Given the description of an element on the screen output the (x, y) to click on. 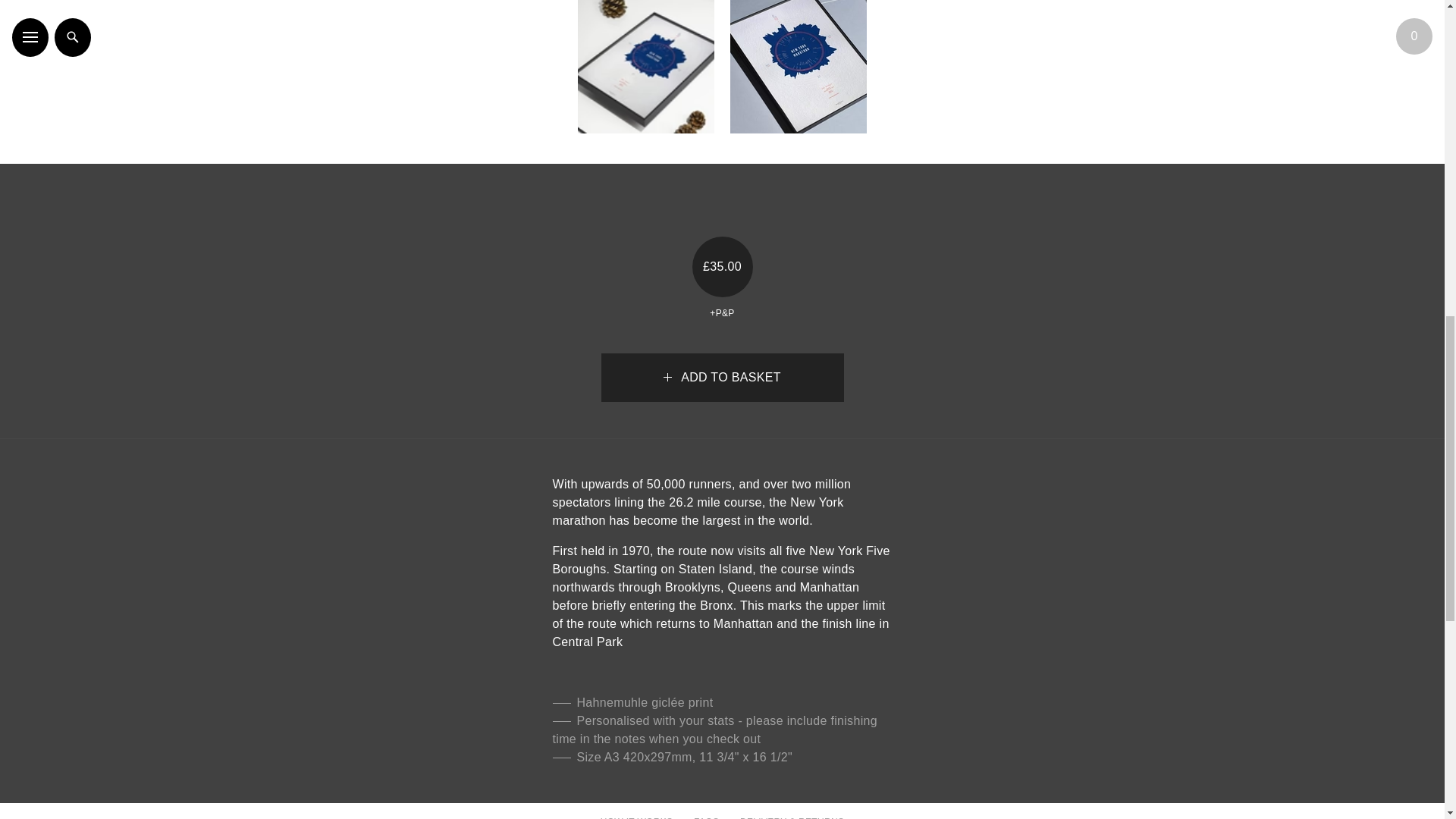
ADD TO BASKET (721, 377)
HOW IT WORKS (635, 817)
FAQS (706, 817)
